Given the description of an element on the screen output the (x, y) to click on. 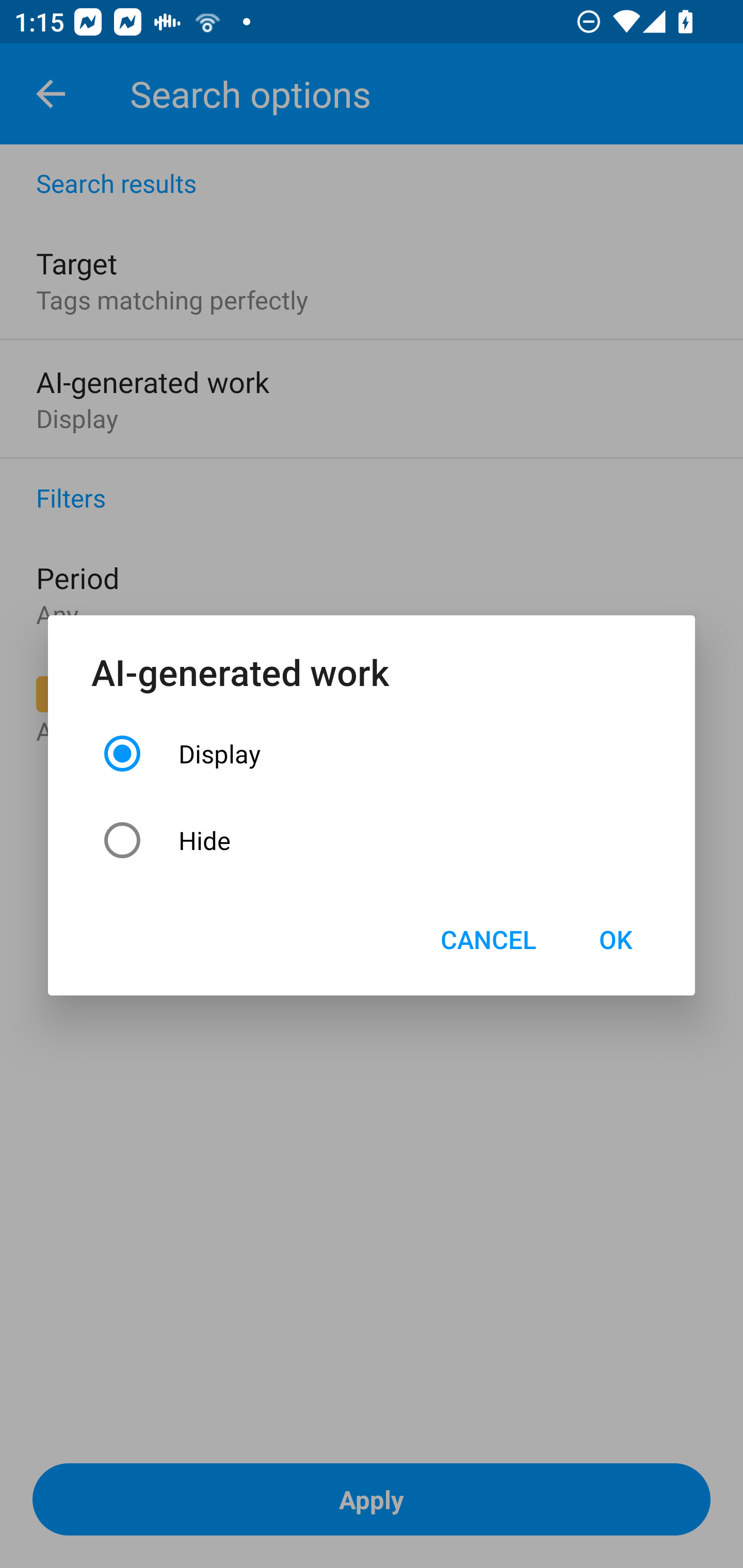
Display (371, 753)
Hide (371, 839)
CANCEL (488, 938)
OK (615, 938)
